Given the description of an element on the screen output the (x, y) to click on. 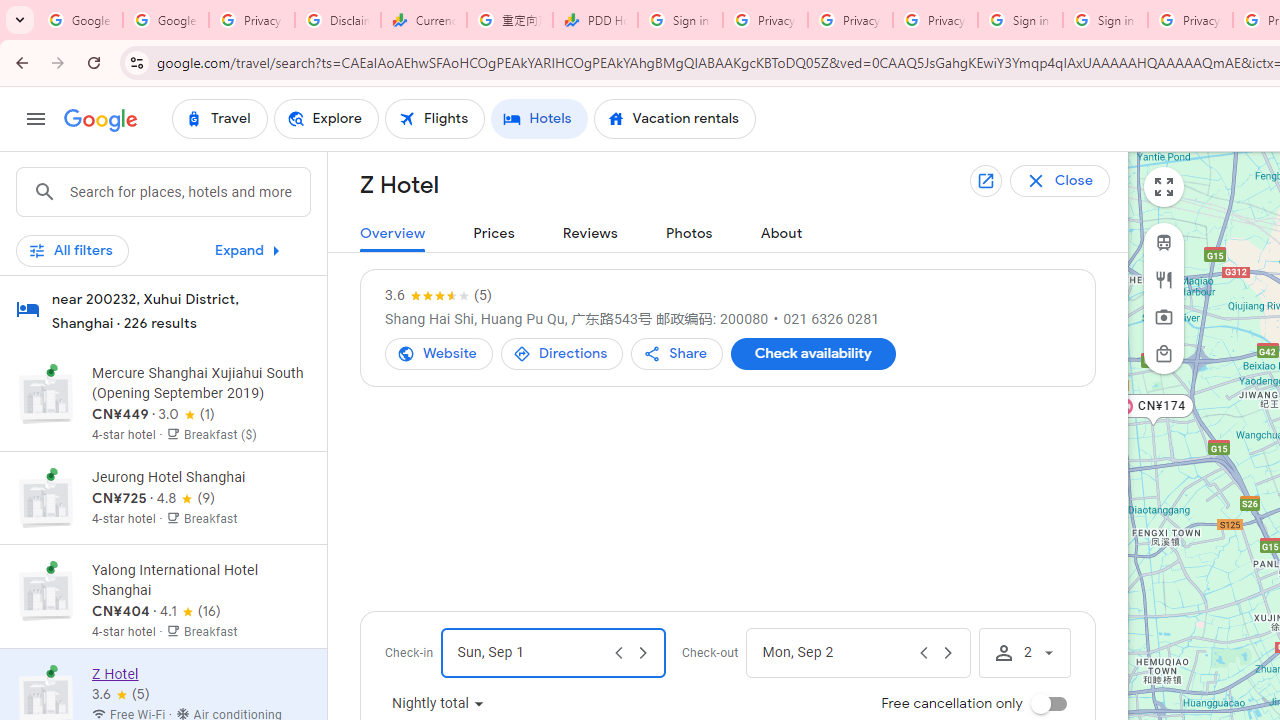
4.1 out of 5 stars from 16 reviews (189, 611)
Free cancellation only (1048, 703)
Google Workspace Admin Community (79, 20)
Privacy Checkup (935, 20)
Photos (688, 233)
Expand (251, 250)
Sign in - Google Accounts (1020, 20)
